Given the description of an element on the screen output the (x, y) to click on. 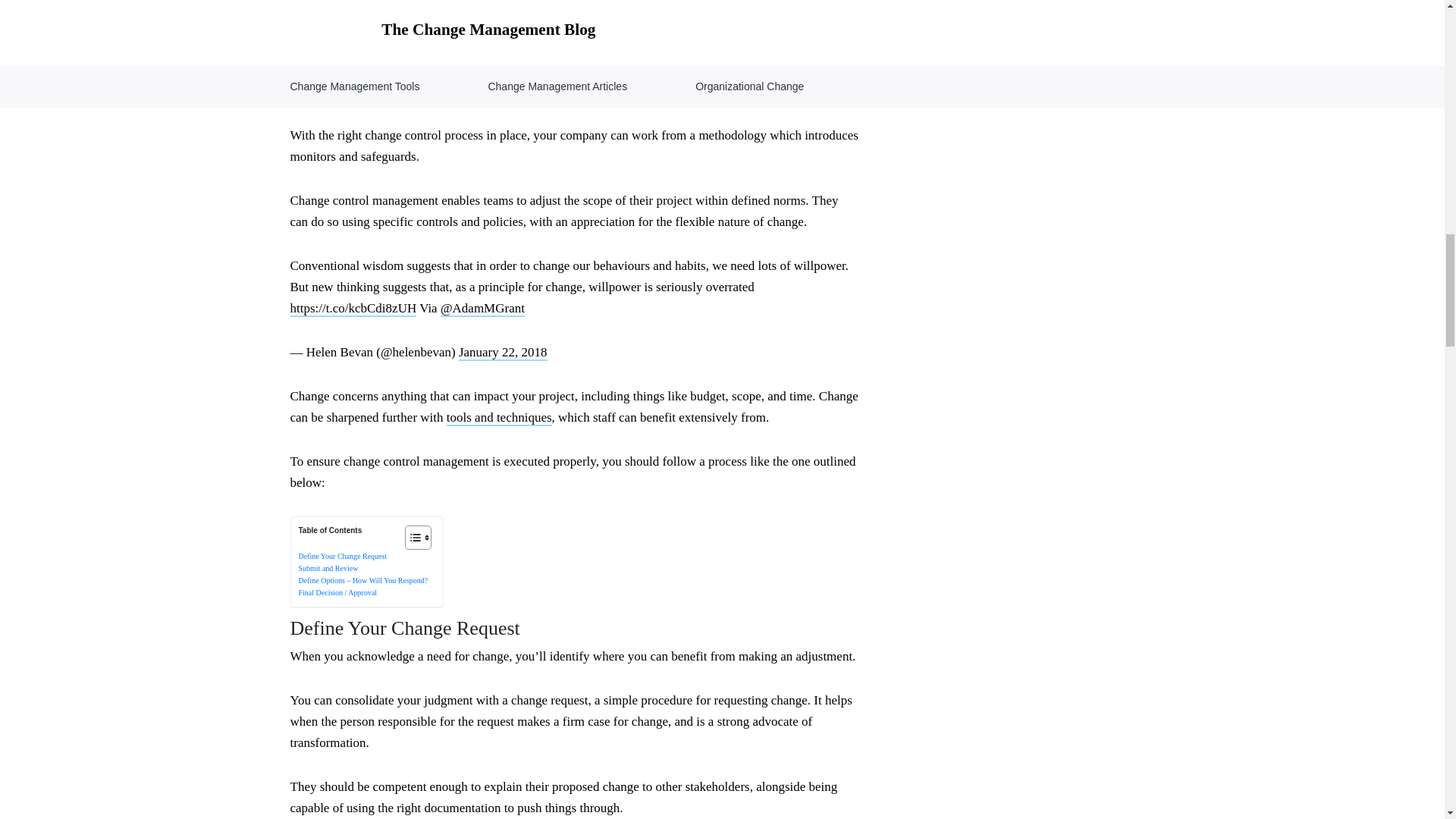
January 22, 2018 (502, 352)
Submit and Review (328, 568)
Submit and Review (328, 568)
Define Your Change Request (342, 556)
torbenrick (395, 91)
Define Your Change Request (342, 556)
tools and techniques (498, 417)
